Given the description of an element on the screen output the (x, y) to click on. 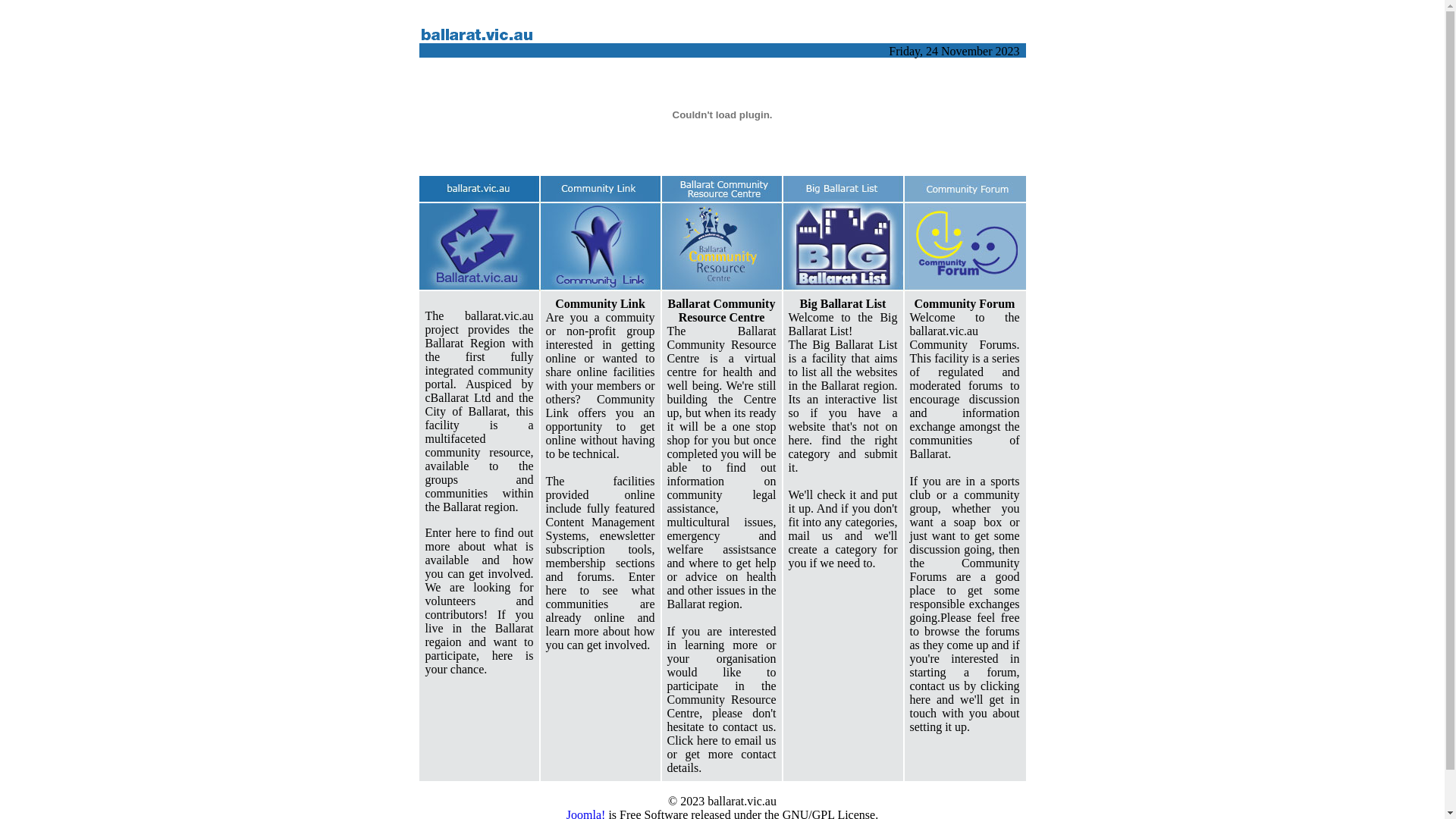
Ballarat Element type: hover (721, 165)
